Given the description of an element on the screen output the (x, y) to click on. 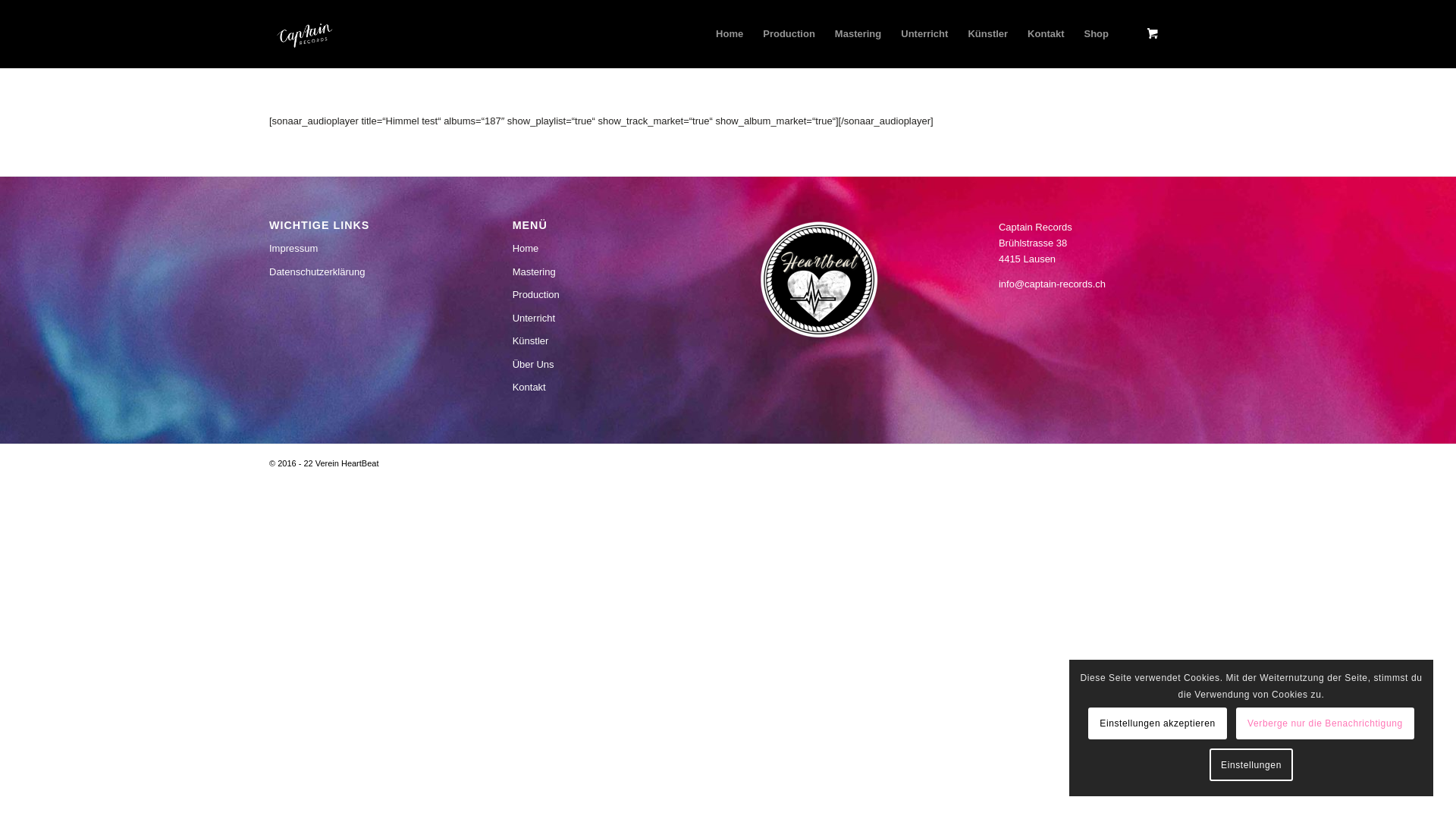
Impressum Element type: text (363, 248)
Kontakt Element type: text (1045, 34)
Production Element type: text (606, 294)
Kontakt Element type: text (606, 387)
Shop Element type: text (1095, 34)
Verberge nur die Benachrichtigung Element type: text (1325, 723)
Einstellungen akzeptieren Element type: text (1157, 723)
Unterricht Element type: text (924, 34)
Production Element type: text (789, 34)
Mastering Element type: text (606, 271)
Mastering Element type: text (858, 34)
Einstellungen Element type: text (1250, 764)
Home Element type: text (729, 34)
Unterricht Element type: text (606, 318)
Home Element type: text (606, 248)
